Given the description of an element on the screen output the (x, y) to click on. 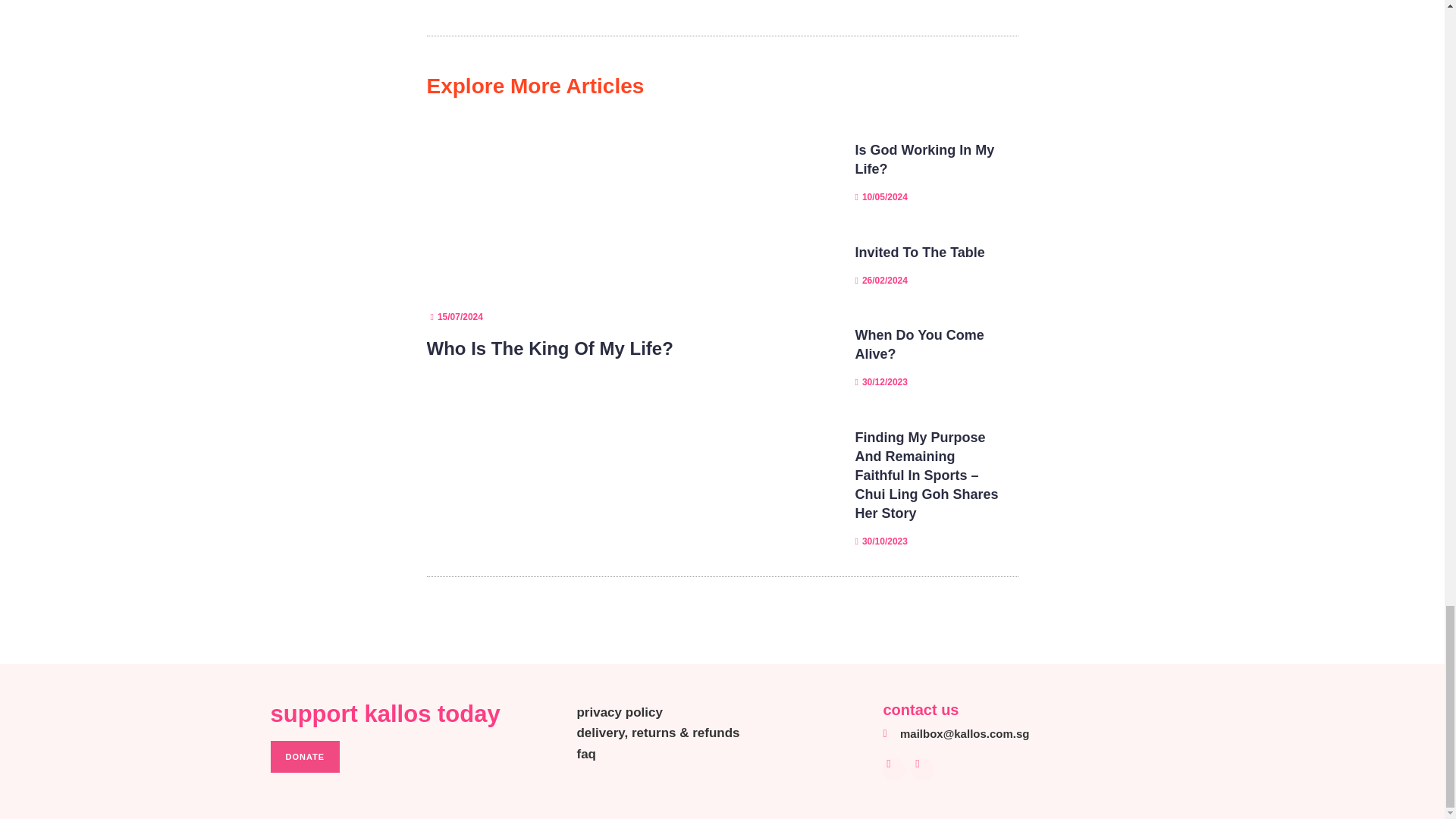
Invited to the Table (920, 252)
Who Is The King Of My Life? (549, 348)
Is God Working In My Life? (925, 159)
Who is the King of my Life? (549, 348)
When Do You Come Alive? (920, 344)
Is God Working In My Life? (925, 159)
